Given the description of an element on the screen output the (x, y) to click on. 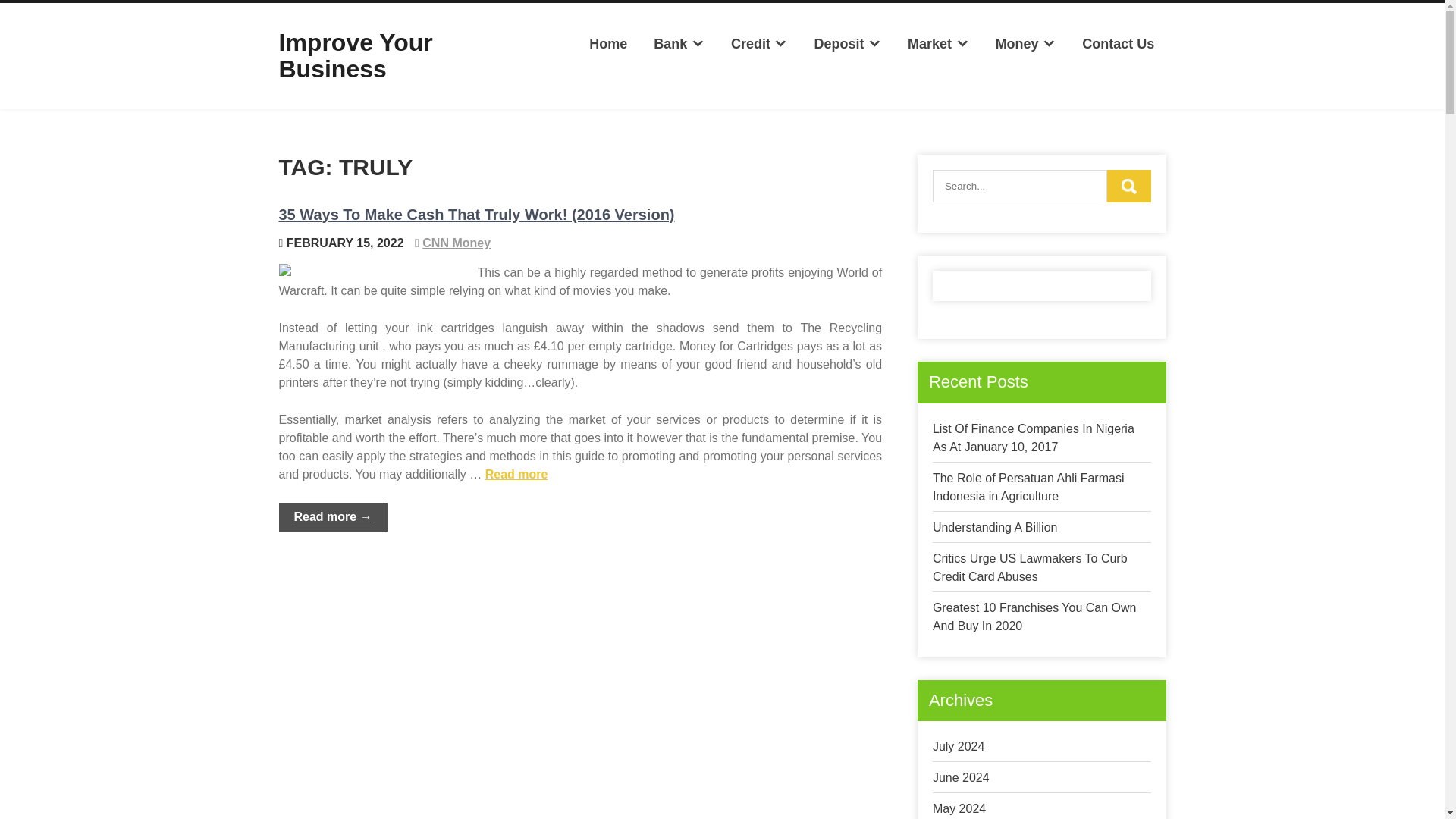
Improve Your Business (355, 55)
Search (1128, 185)
Search (1128, 185)
Bank (679, 44)
Market (937, 44)
Read more (516, 473)
Deposit (847, 44)
Money (1025, 44)
CNN Money (456, 242)
Contact Us (1118, 44)
Credit (759, 44)
Home (608, 44)
Search (1128, 185)
